Given the description of an element on the screen output the (x, y) to click on. 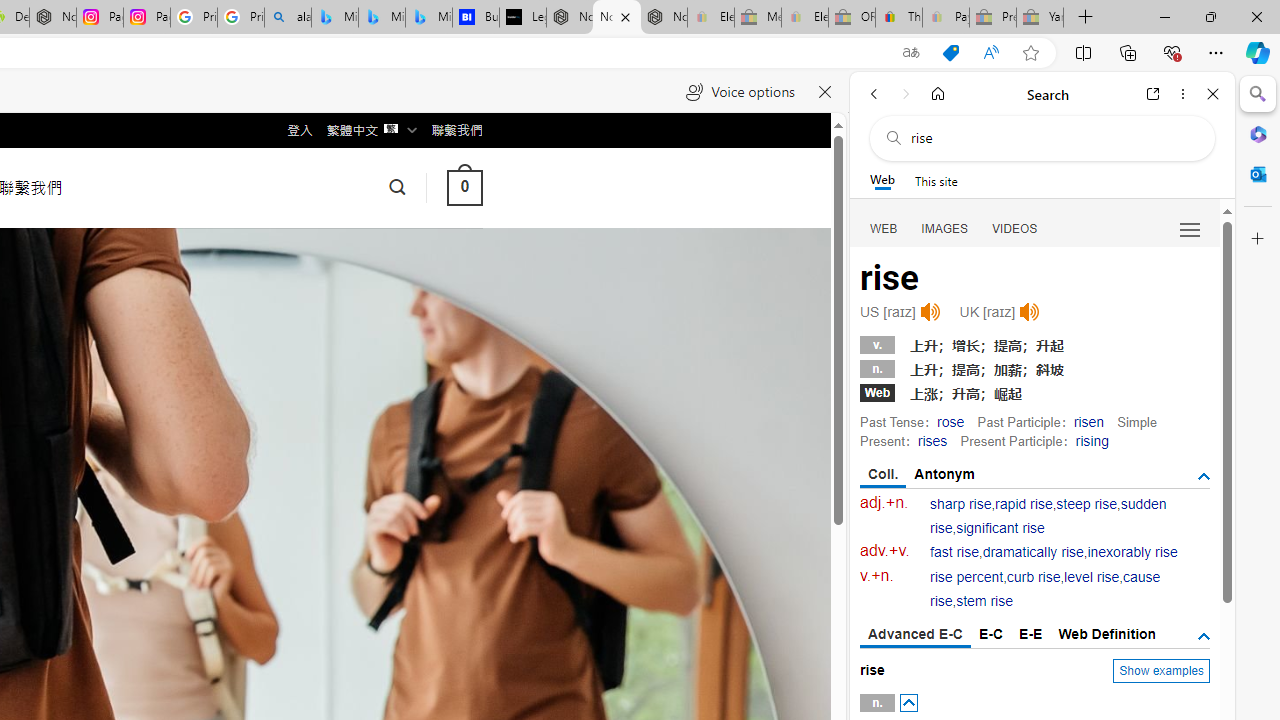
curb rise (1033, 577)
AutomationID: tgsb (1203, 476)
E-E (1030, 633)
stem rise (984, 601)
Advanced E-C (915, 635)
fast rise (955, 552)
Payments Terms of Use | eBay.com - Sleeping (945, 17)
